Given the description of an element on the screen output the (x, y) to click on. 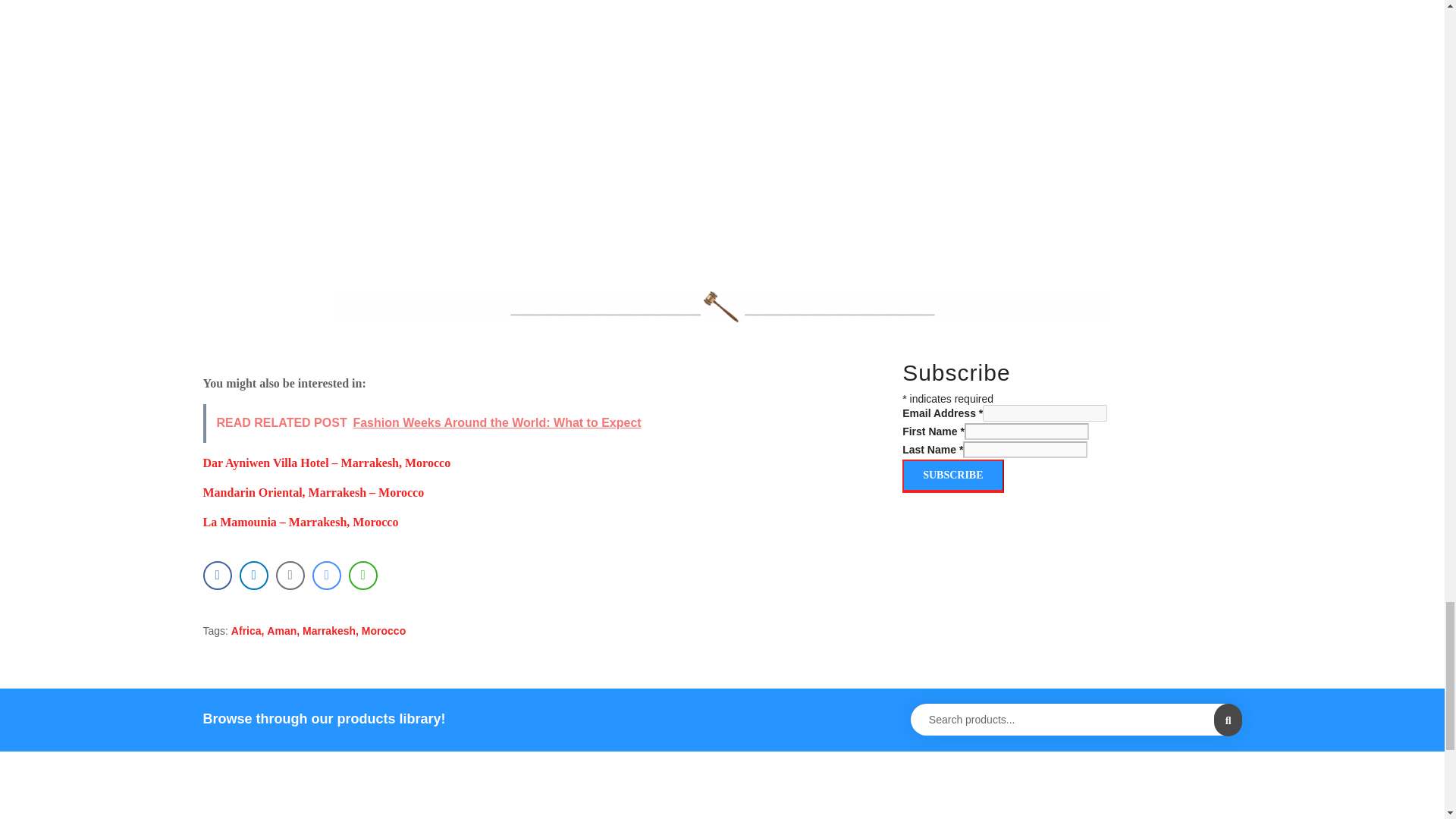
Subscribe (952, 476)
